Given the description of an element on the screen output the (x, y) to click on. 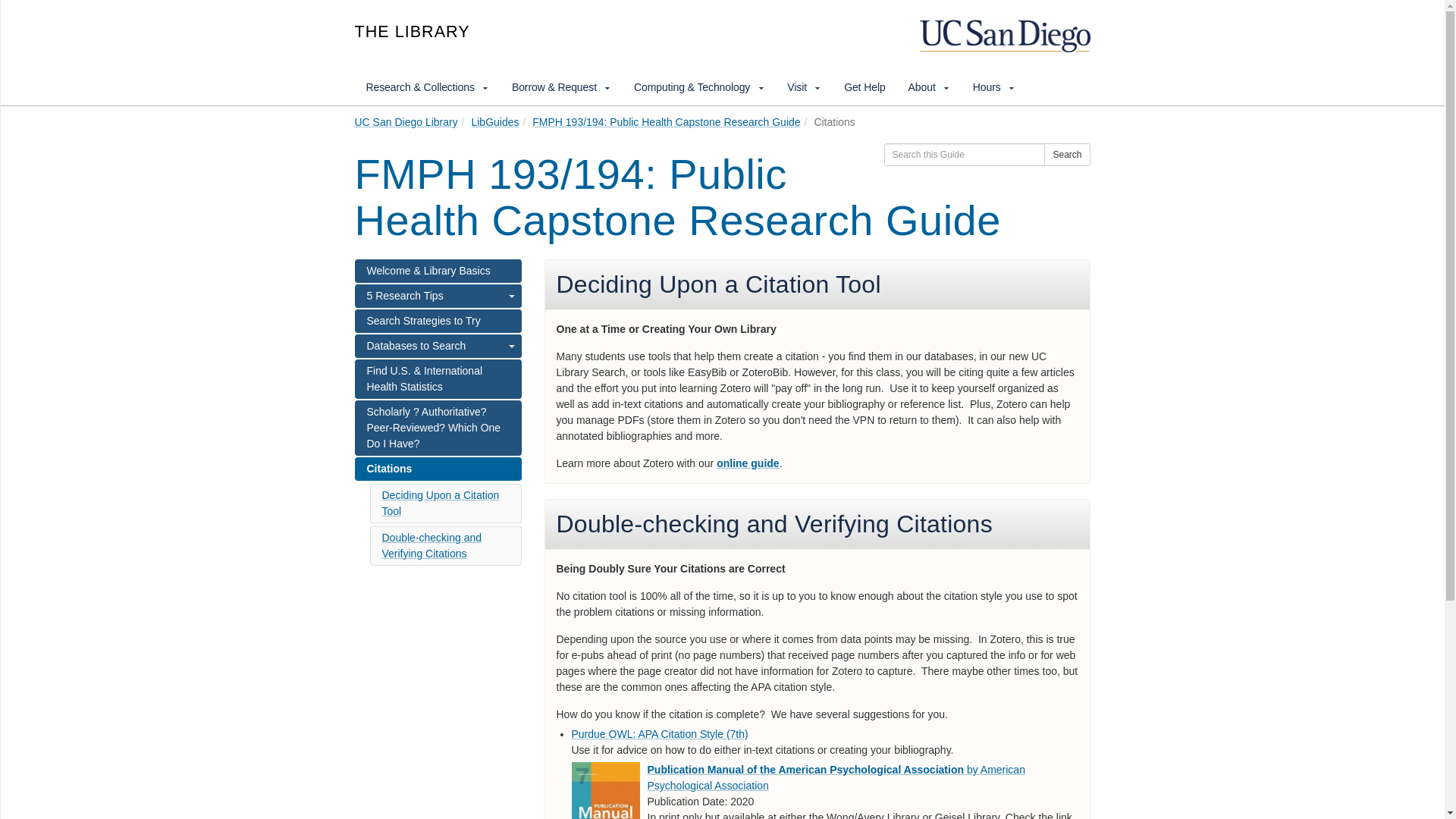
Get Help (864, 86)
THE LIBRARY (446, 34)
